Given the description of an element on the screen output the (x, y) to click on. 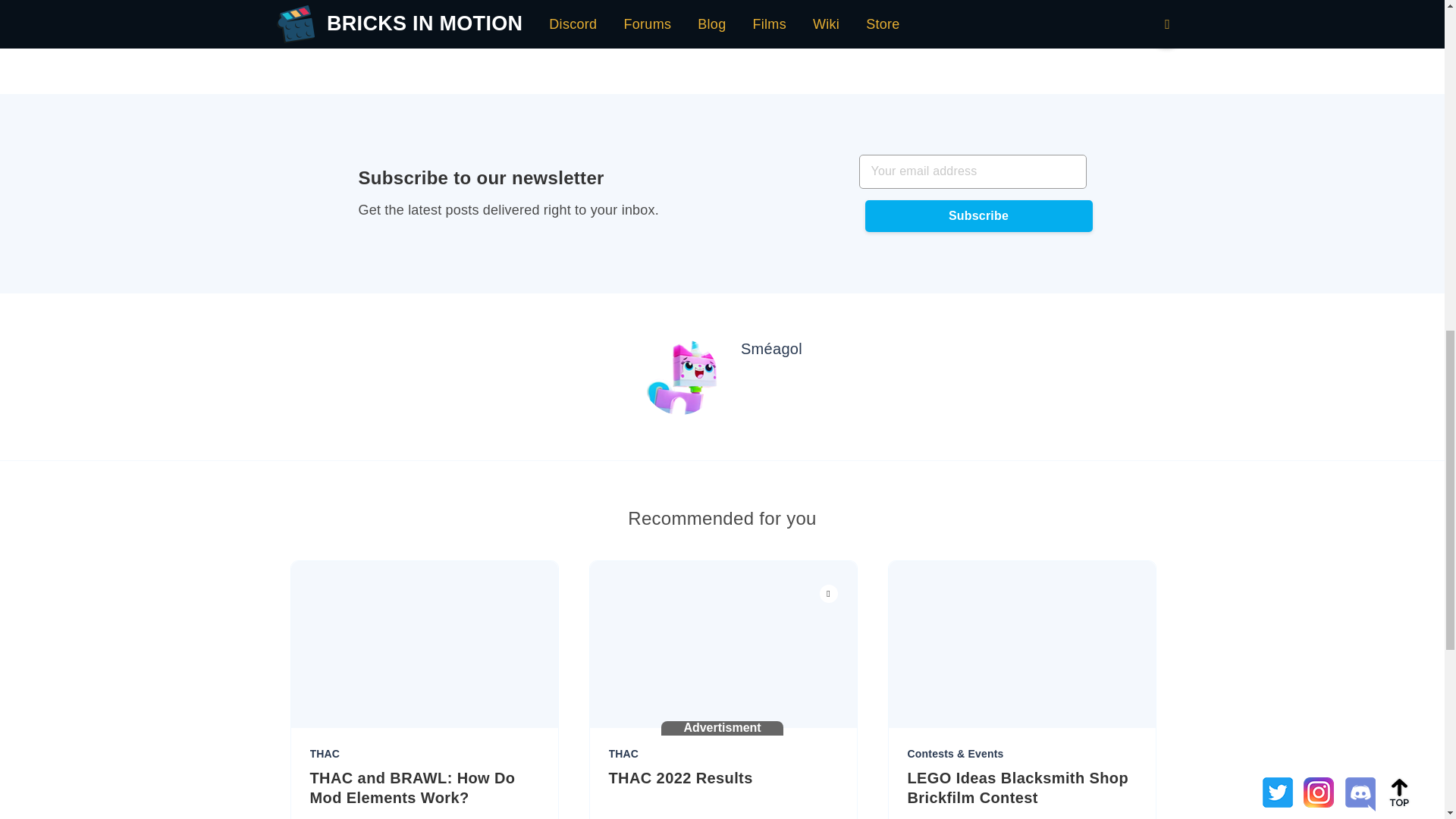
THAC and BRAWL: How Do Mod Elements Work? (423, 787)
THAC 2022 Results (722, 777)
Subscribe (978, 215)
LEGO Ideas Blacksmith Shop Brickfilm Contest (1021, 787)
For the full Top Ten results, visit the forum! (571, 36)
